Given the description of an element on the screen output the (x, y) to click on. 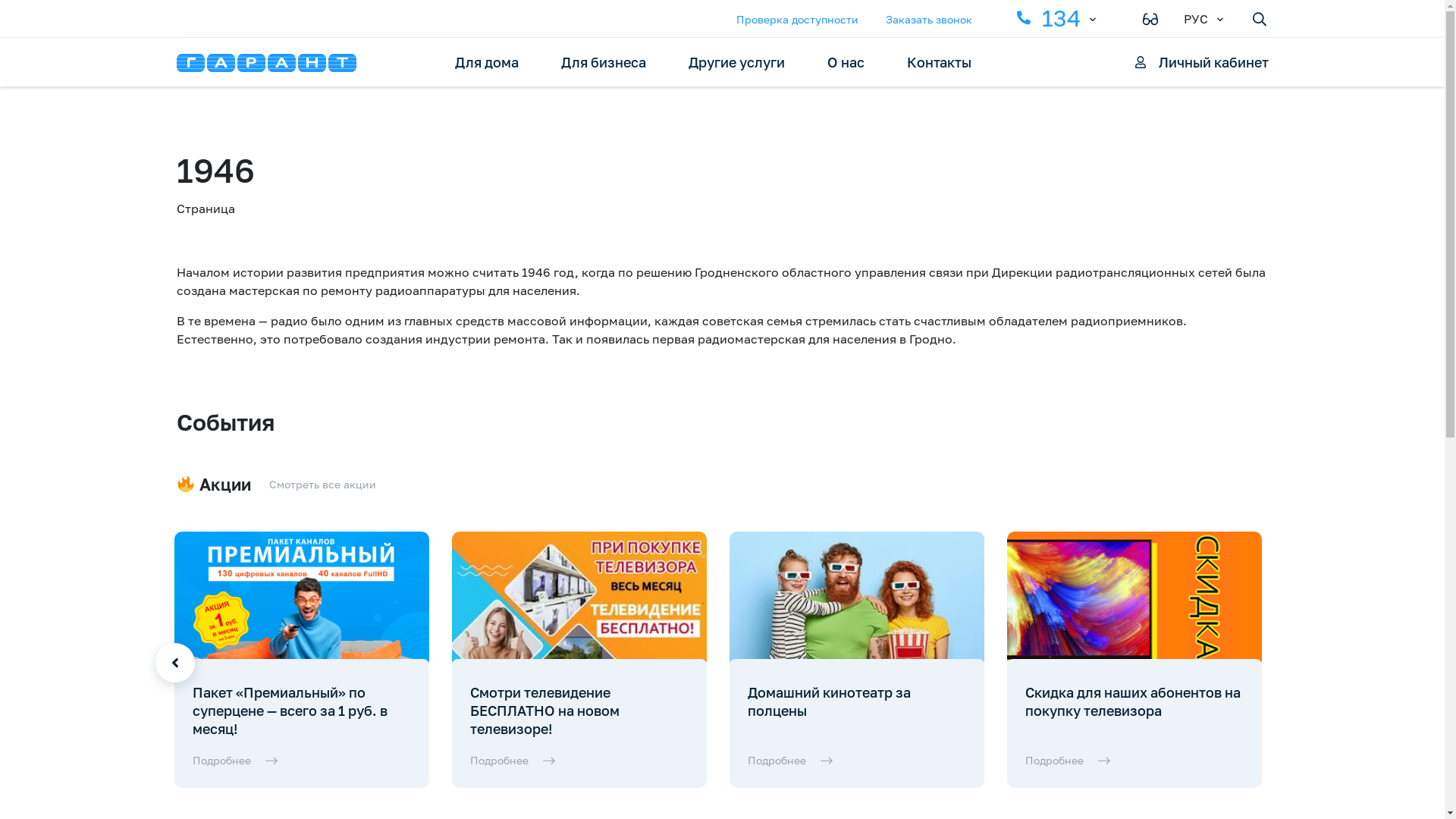
134 Element type: text (1047, 17)
